Given the description of an element on the screen output the (x, y) to click on. 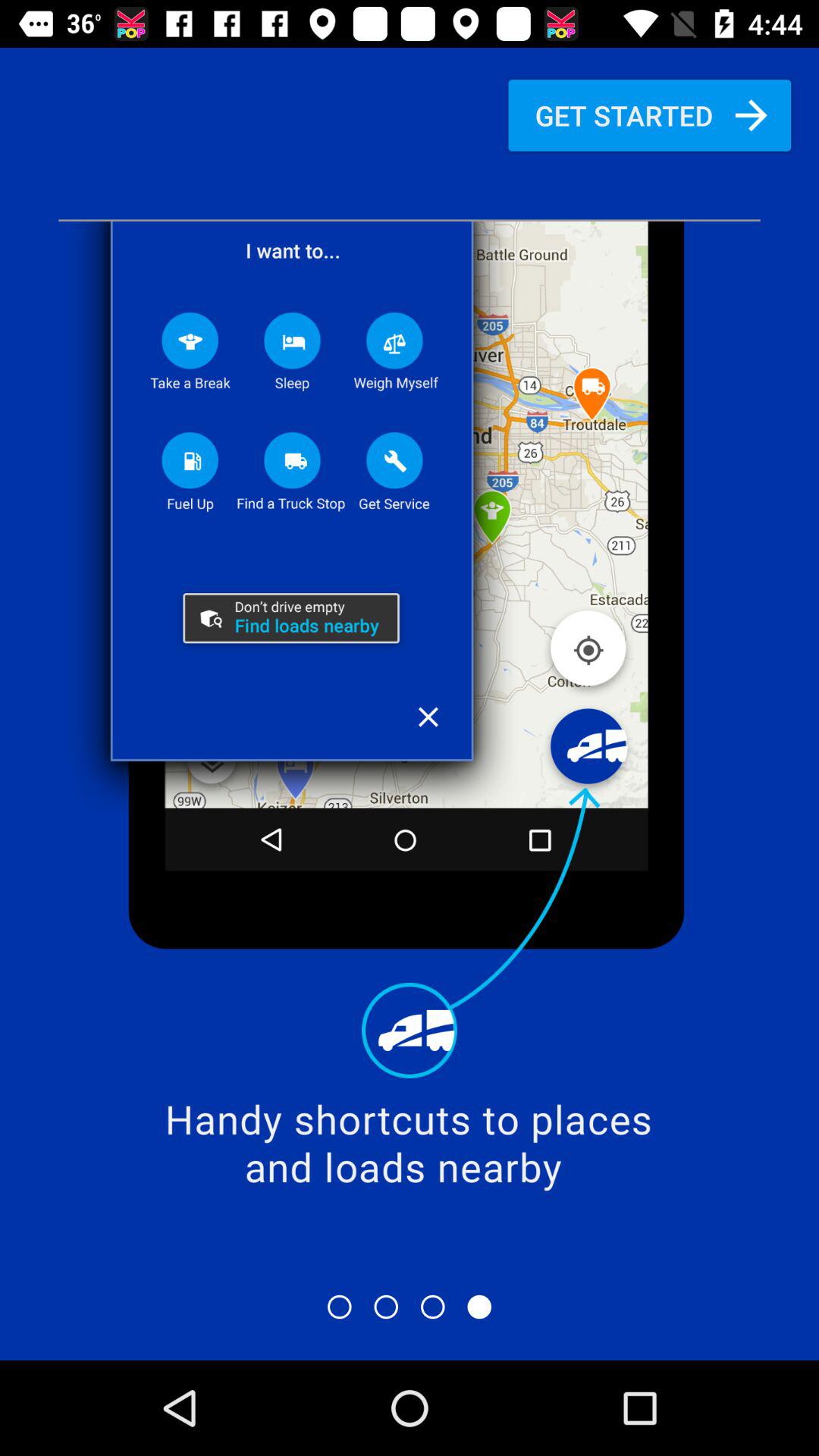
tap the get started icon (649, 115)
